Given the description of an element on the screen output the (x, y) to click on. 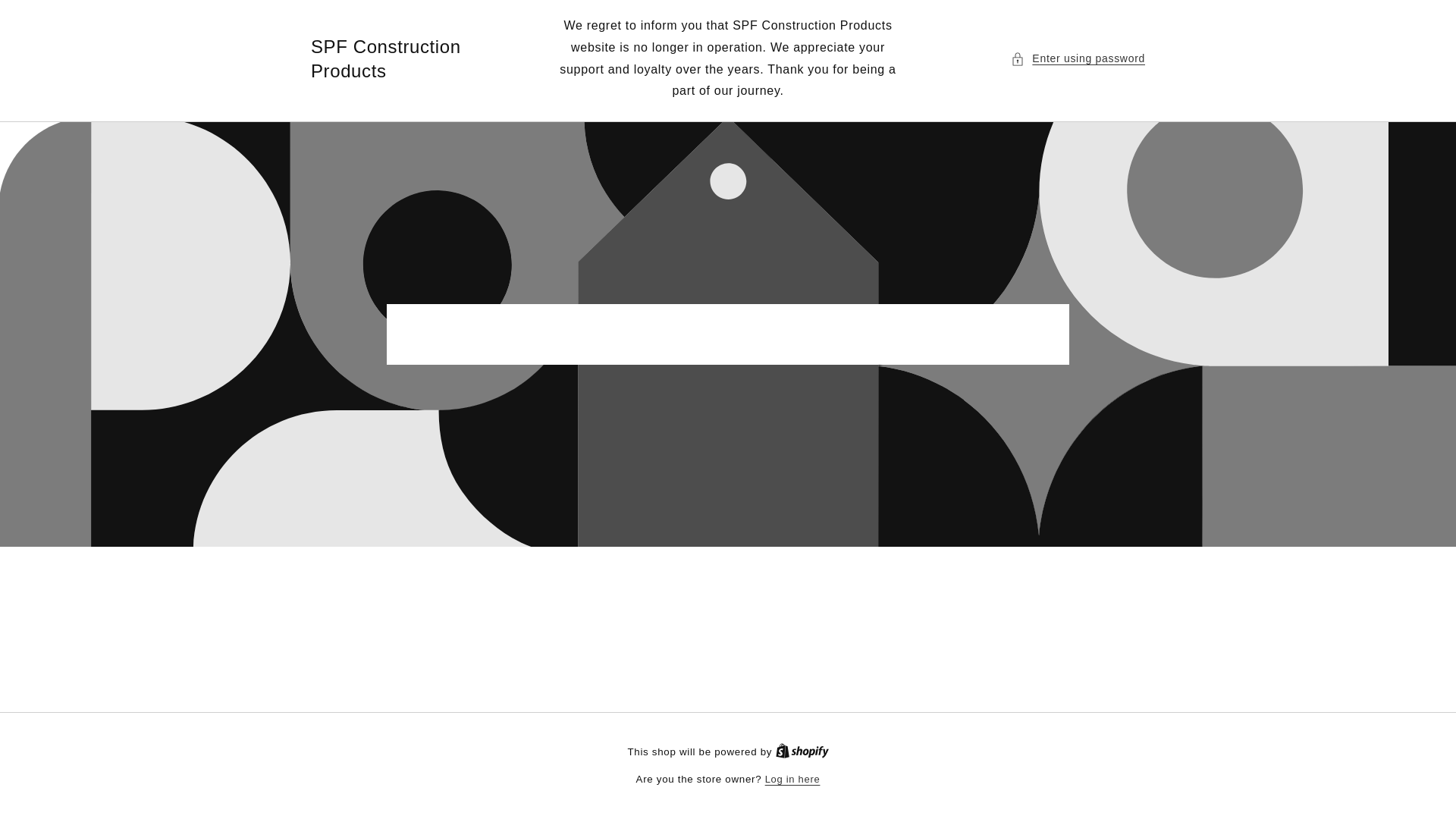
Log in here (793, 779)
Skip to content (45, 17)
